Given the description of an element on the screen output the (x, y) to click on. 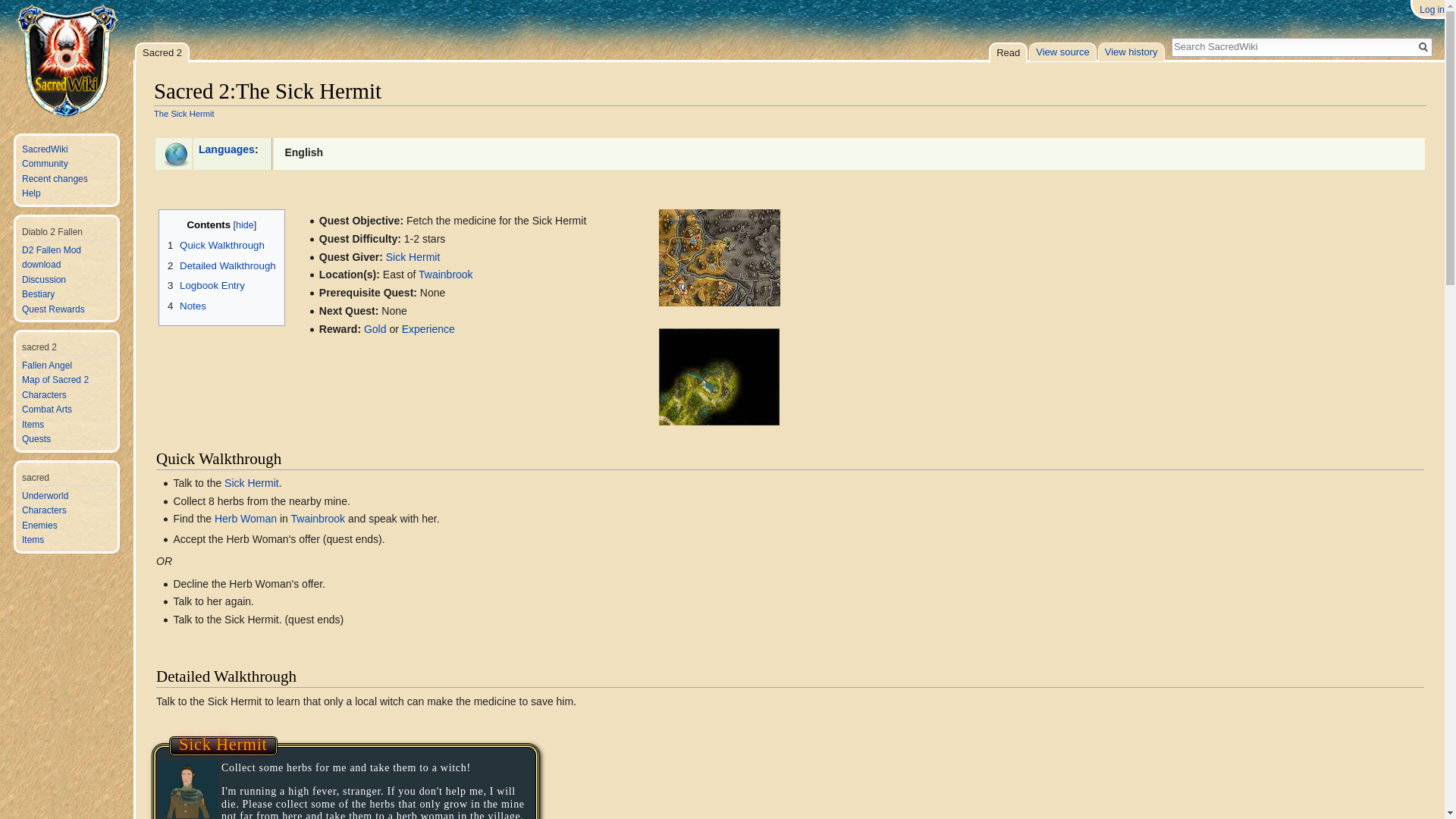
English (303, 152)
Twainbrook (446, 274)
The Sick Hermit (184, 112)
Sick Hermit (413, 256)
Sacred 2:The Sick Hermit (184, 112)
Sacred 2:Sick Hermit (223, 743)
Sacred 2:Sick Hermit (413, 256)
Sick Hermit (251, 482)
Go (1423, 46)
Sick Hermit (223, 743)
Herb Woman (245, 518)
Experience (427, 328)
Sacred 2:Sick Hermit (251, 482)
3 Logbook Entry (205, 285)
